Given the description of an element on the screen output the (x, y) to click on. 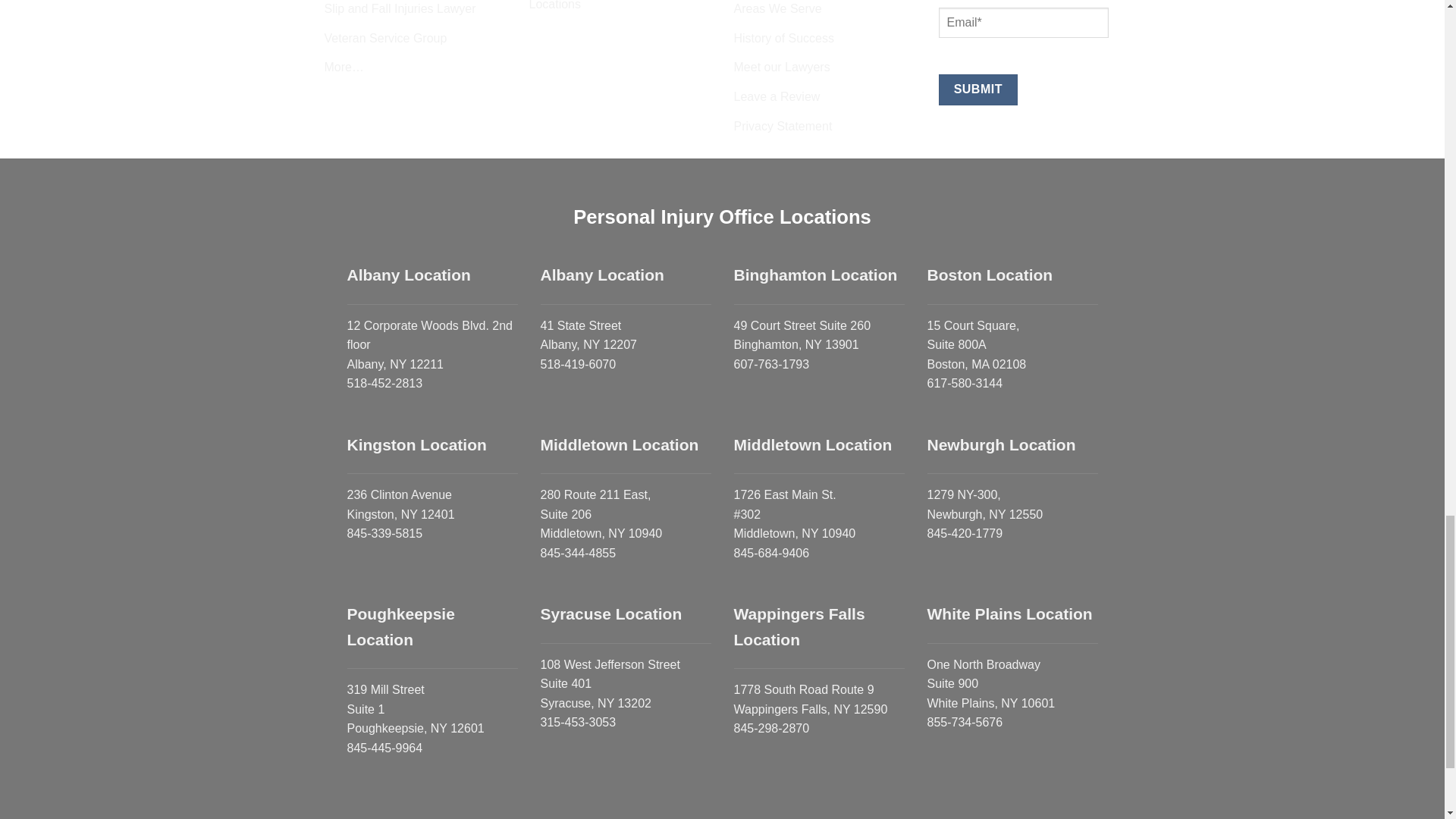
Submit (978, 89)
